Given the description of an element on the screen output the (x, y) to click on. 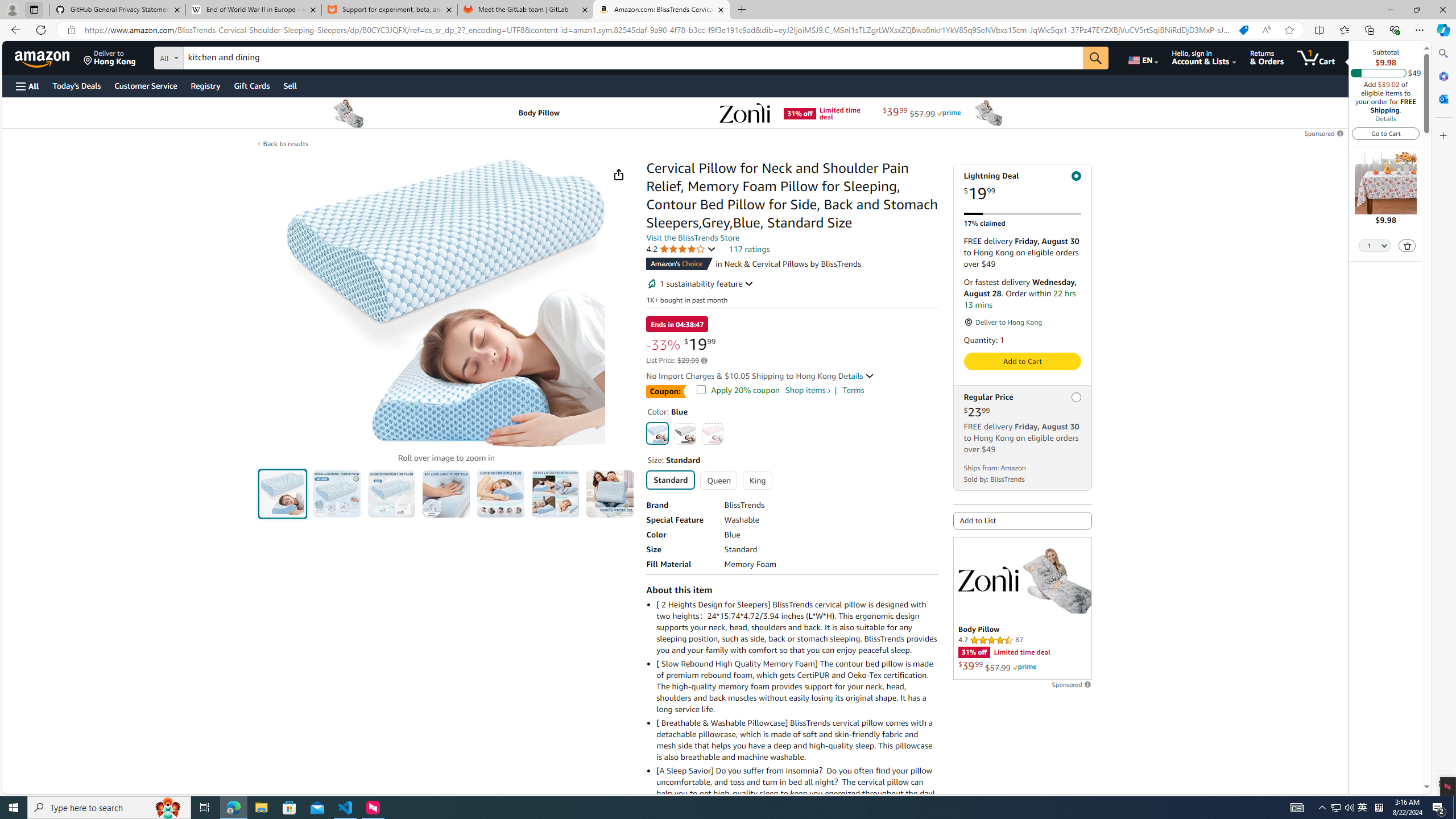
Apply 20% coupon Shop items | Terms (696, 387)
King (756, 479)
Logo (987, 578)
Skip to main content (48, 56)
Registry (205, 85)
Prime (1023, 666)
Customer Service (145, 85)
